Given the description of an element on the screen output the (x, y) to click on. 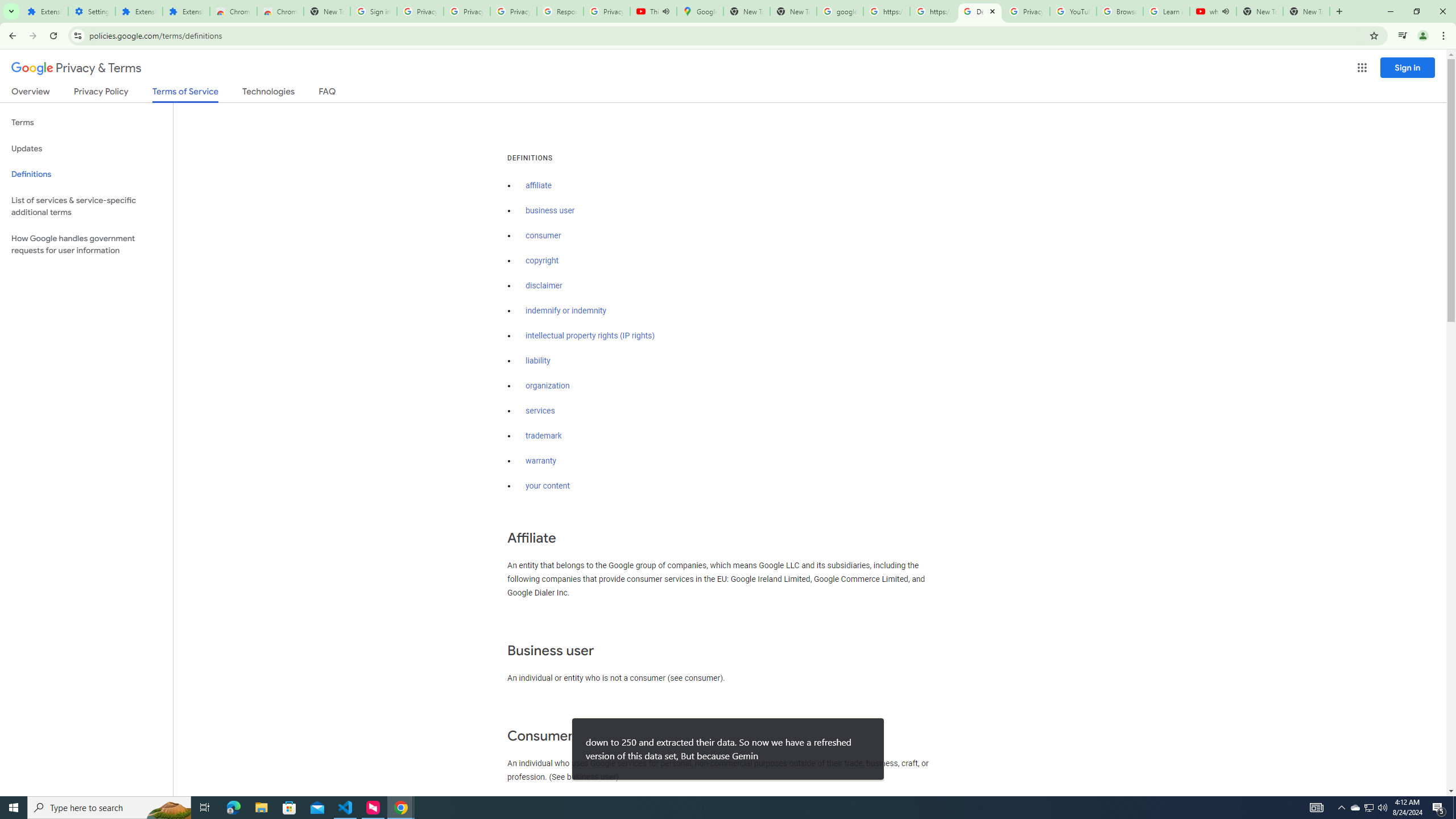
Extensions (186, 11)
intellectual property rights (IP rights) (590, 335)
Google Maps (699, 11)
https://scholar.google.com/ (933, 11)
disclaimer (543, 285)
